Given the description of an element on the screen output the (x, y) to click on. 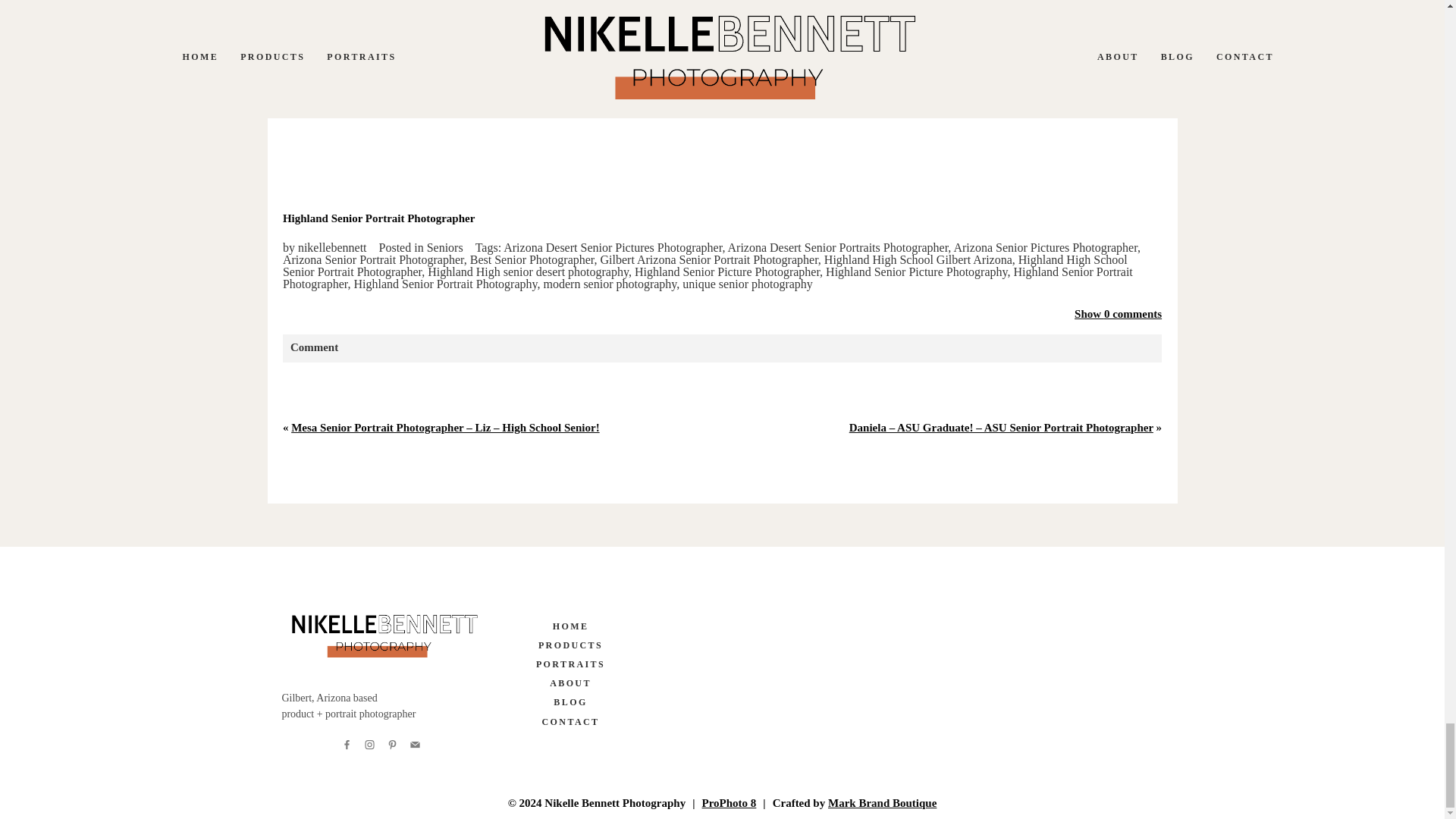
Gilbert Arizona Senior Portrait Photographer (708, 259)
HOME (570, 626)
Seniors (444, 246)
Arizona Desert Senior Portraits Photographer (838, 246)
Show 0 comments (1117, 313)
Highland High senior desert photography (528, 271)
Highland Senior Portrait Photographer (707, 277)
Highland High School Gilbert Arizona (917, 259)
Best Senior Photographer (532, 259)
ABOUT (570, 683)
